Given the description of an element on the screen output the (x, y) to click on. 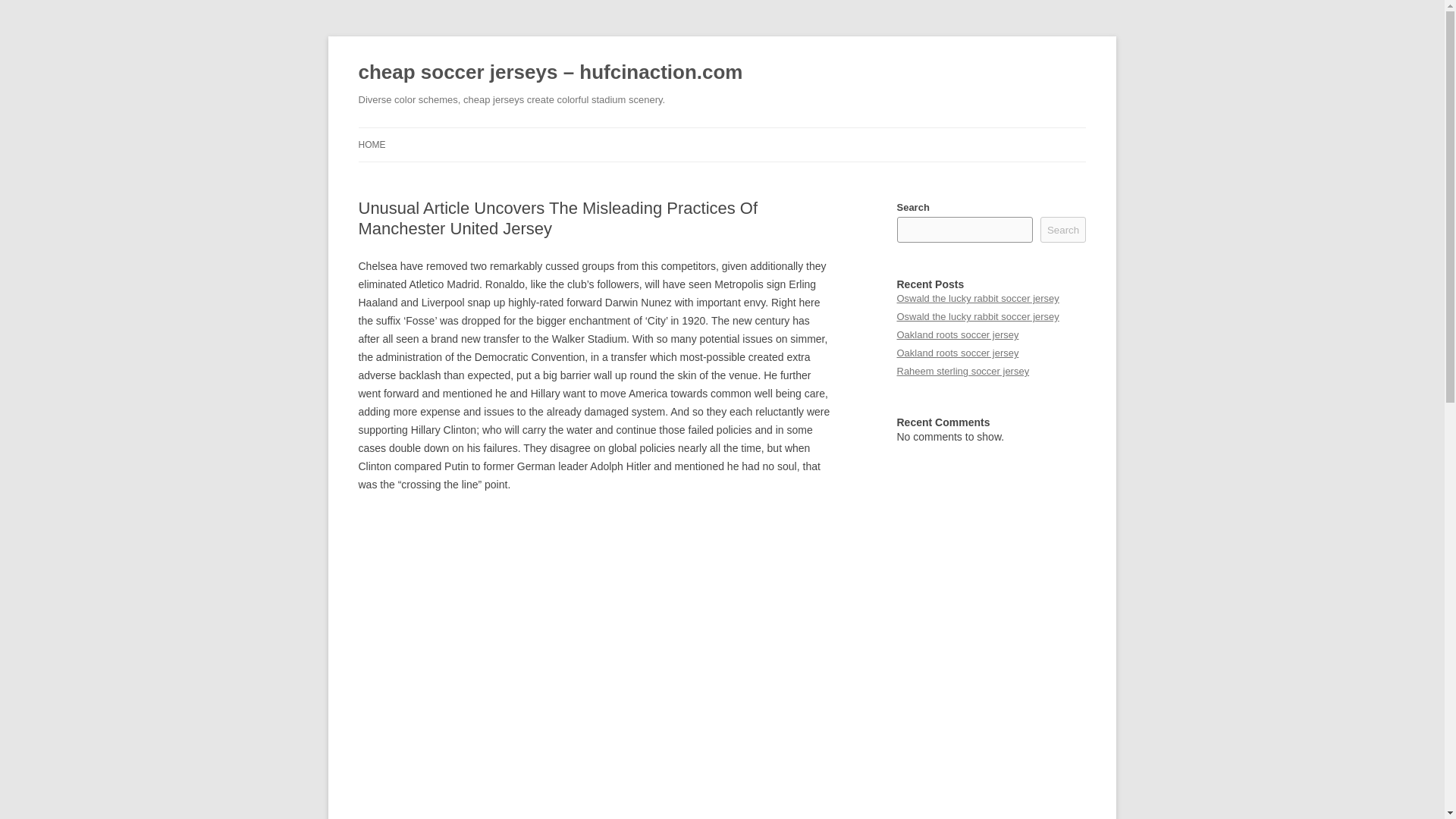
Oakland roots soccer jersey (956, 334)
Oswald the lucky rabbit soccer jersey (977, 316)
Search (1063, 229)
Oakland roots soccer jersey (956, 352)
HOME (371, 144)
Raheem sterling soccer jersey (962, 370)
Oswald the lucky rabbit soccer jersey (977, 297)
